Given the description of an element on the screen output the (x, y) to click on. 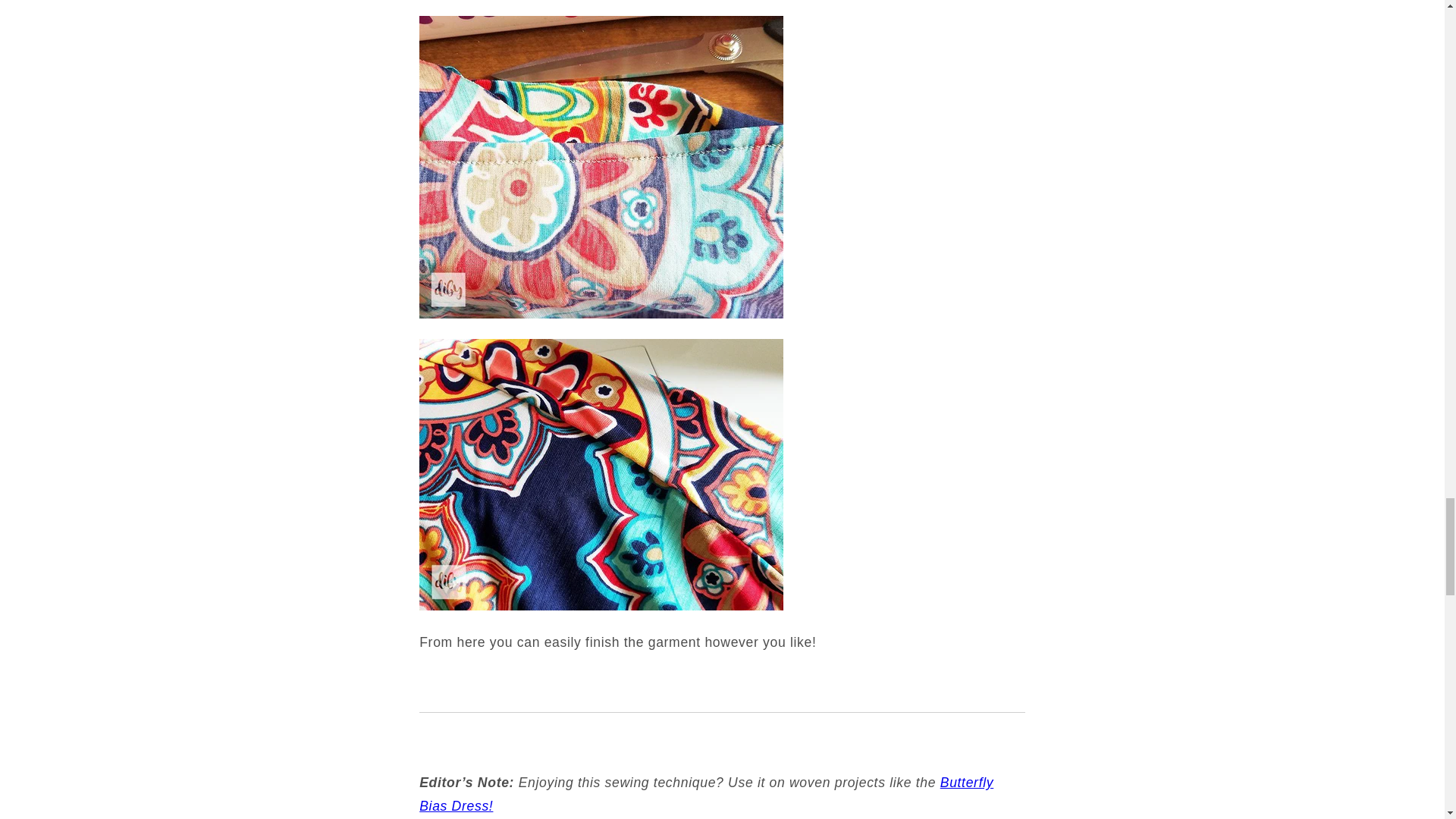
Butterfly Bias Dress (705, 793)
